Given the description of an element on the screen output the (x, y) to click on. 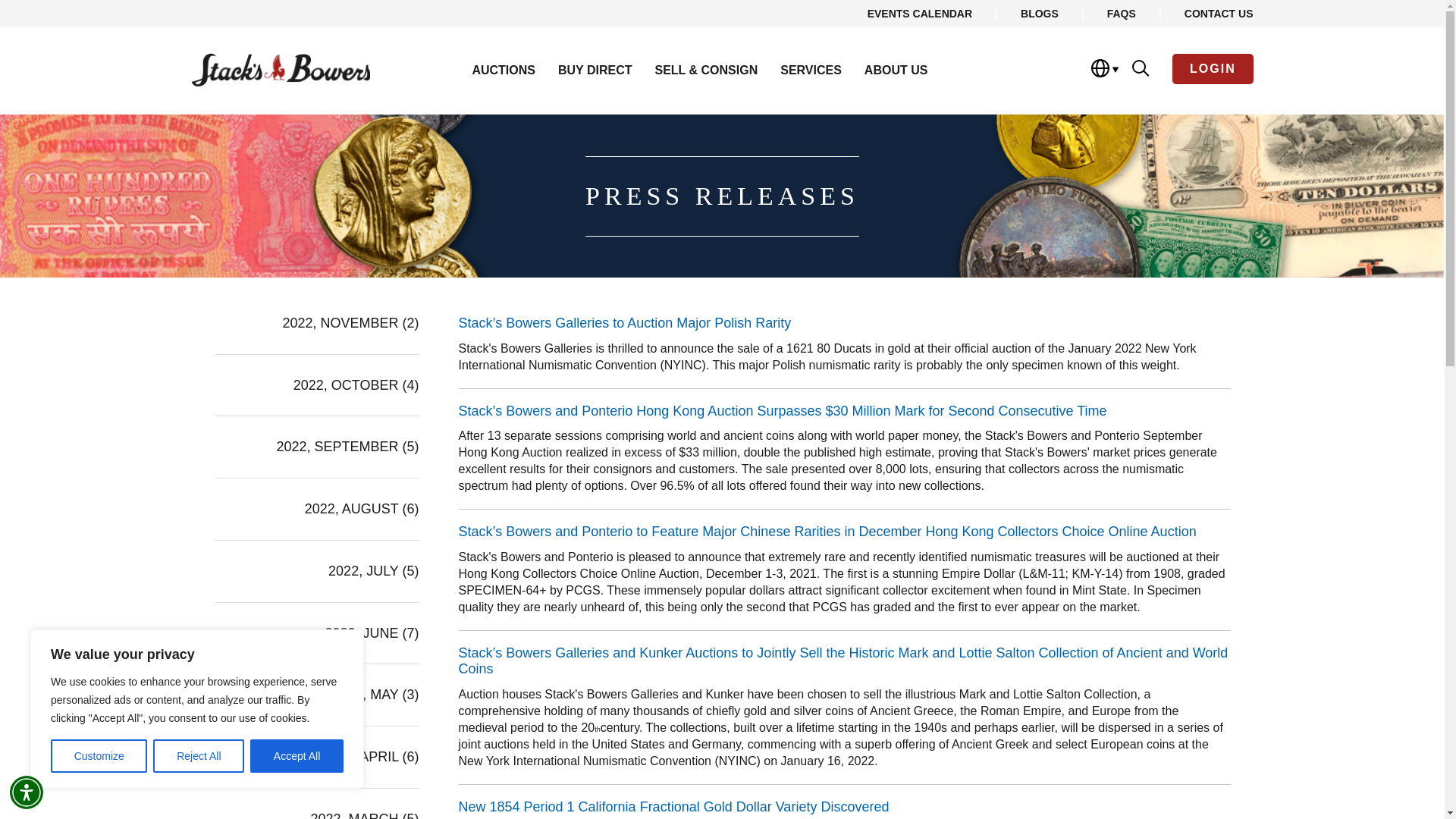
Reject All (198, 756)
AUCTIONS (503, 69)
FAQS (1120, 13)
SERVICES (810, 69)
BUY DIRECT (594, 69)
BLOGS (1039, 13)
Customize (98, 756)
Accessibility Menu (26, 792)
CONTACT US (1219, 13)
EVENTS CALENDAR (919, 13)
Accept All (296, 756)
